Given the description of an element on the screen output the (x, y) to click on. 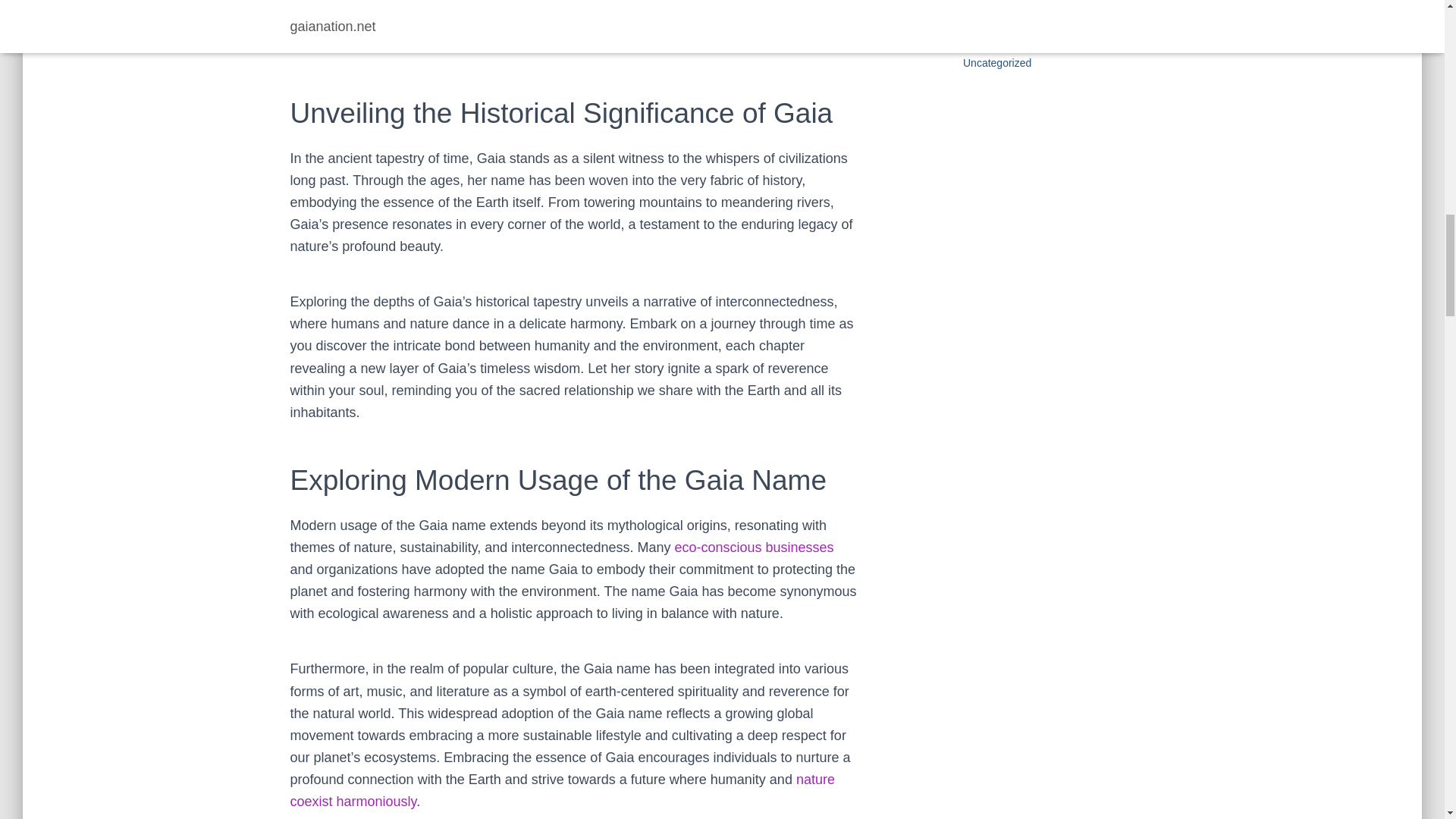
nature coexist harmoniously (561, 790)
eco-conscious businesses (753, 547)
gaia hypothesis assignment (561, 790)
planetary ecology (753, 547)
